Given the description of an element on the screen output the (x, y) to click on. 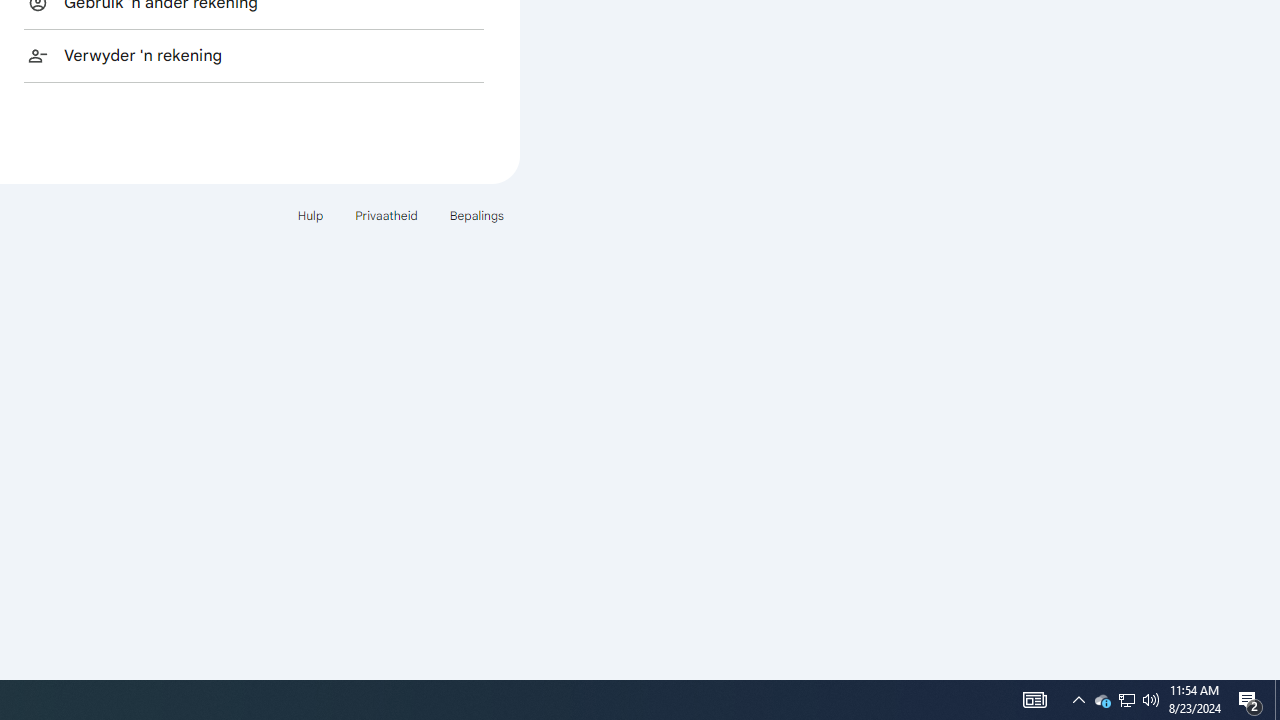
Privaatheid (386, 214)
Hulp (310, 214)
Verwyder 'n rekening (253, 55)
Bepalings (475, 214)
